Given the description of an element on the screen output the (x, y) to click on. 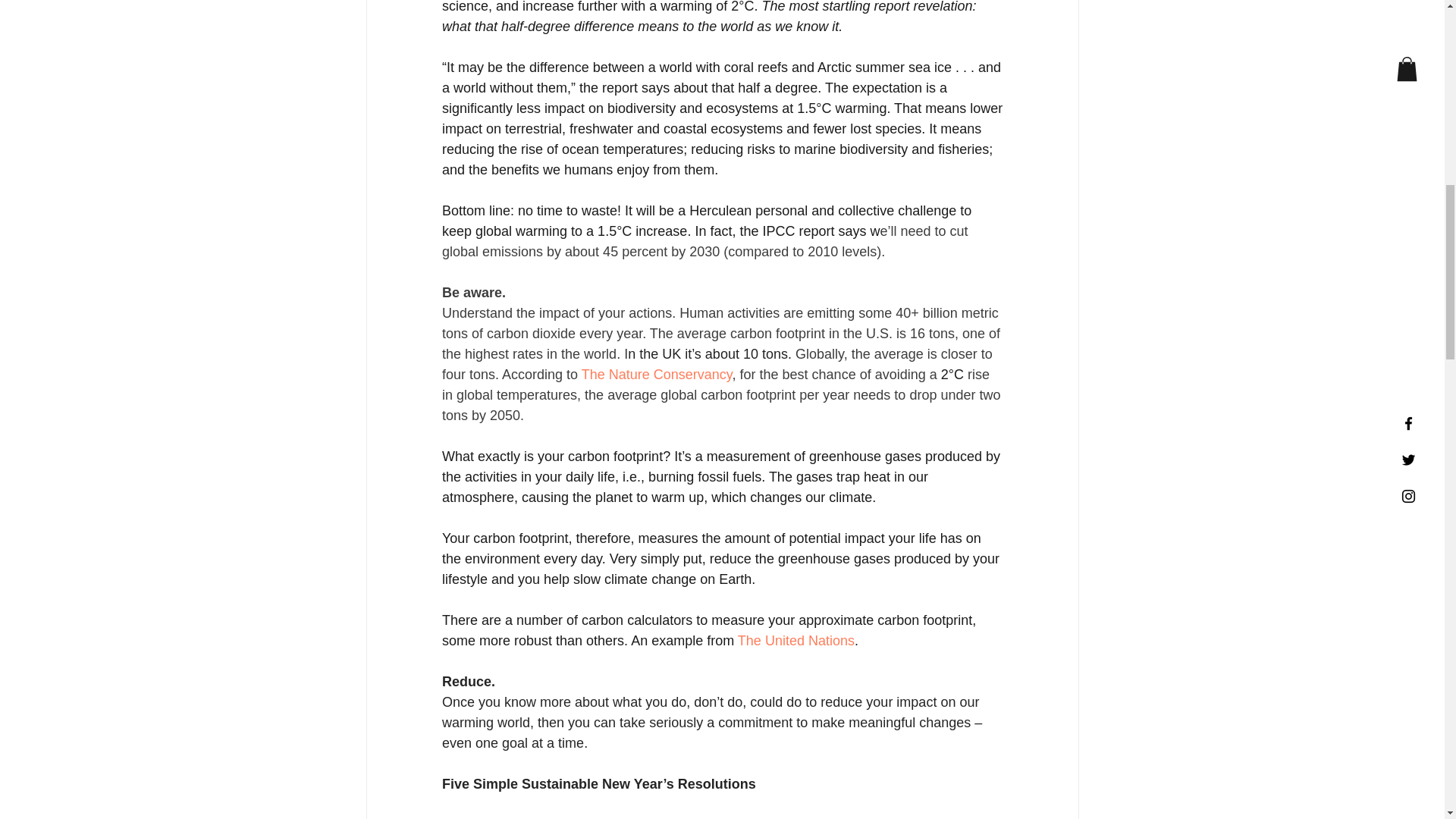
The United Nations (794, 640)
The Nature Conservancy (656, 374)
